Given the description of an element on the screen output the (x, y) to click on. 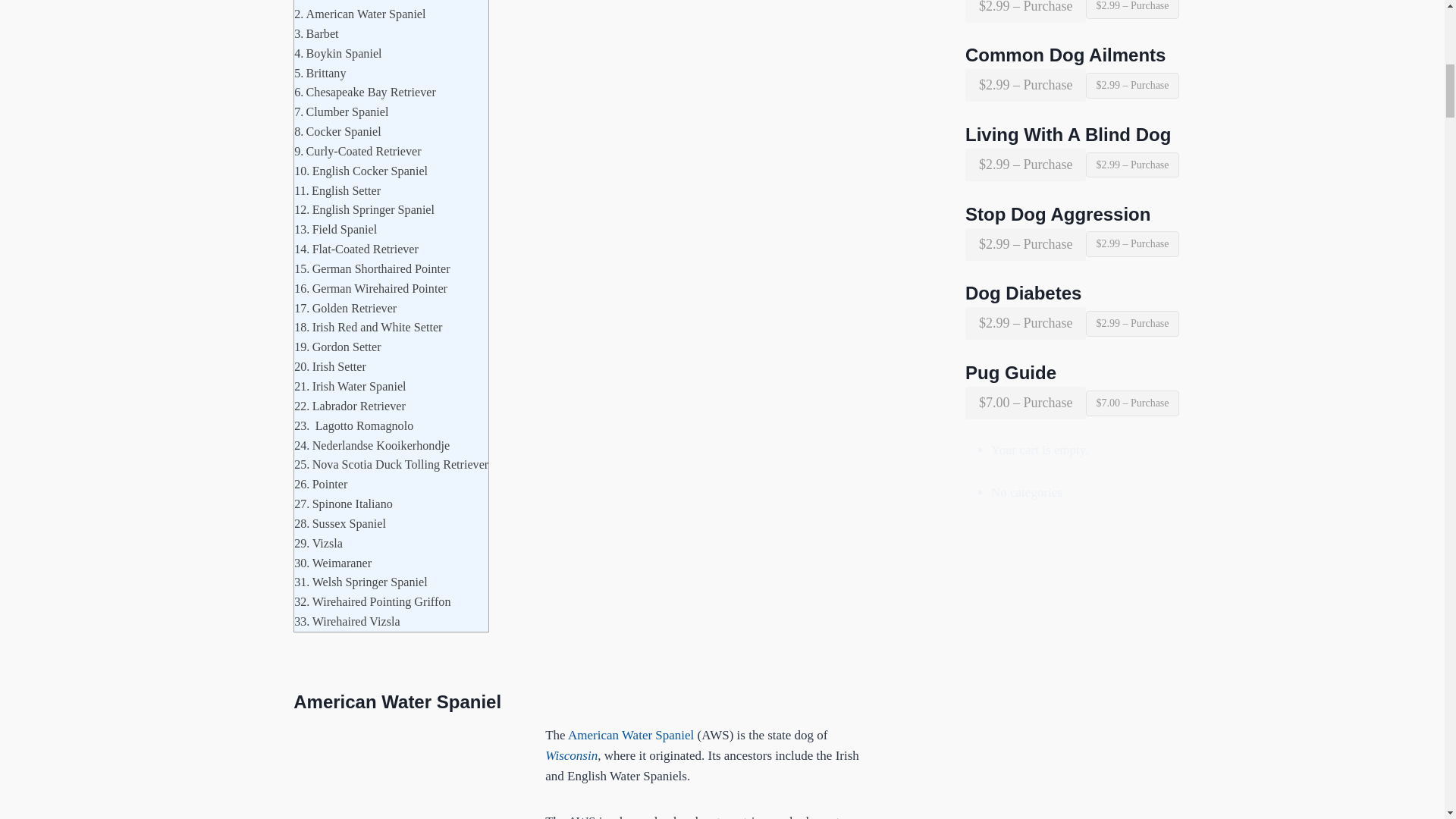
Clumber Spaniel (341, 112)
Brittany (320, 73)
Curly-Coated Retriever (357, 151)
Cocker Spaniel (337, 131)
English Springer Spaniel (363, 209)
English Cocker Spaniel (361, 170)
Boykin Spaniel (337, 53)
Barbet (315, 34)
Chesapeake Bay Retriever (364, 92)
American Water Spaniel (359, 14)
English Setter (337, 190)
